Given the description of an element on the screen output the (x, y) to click on. 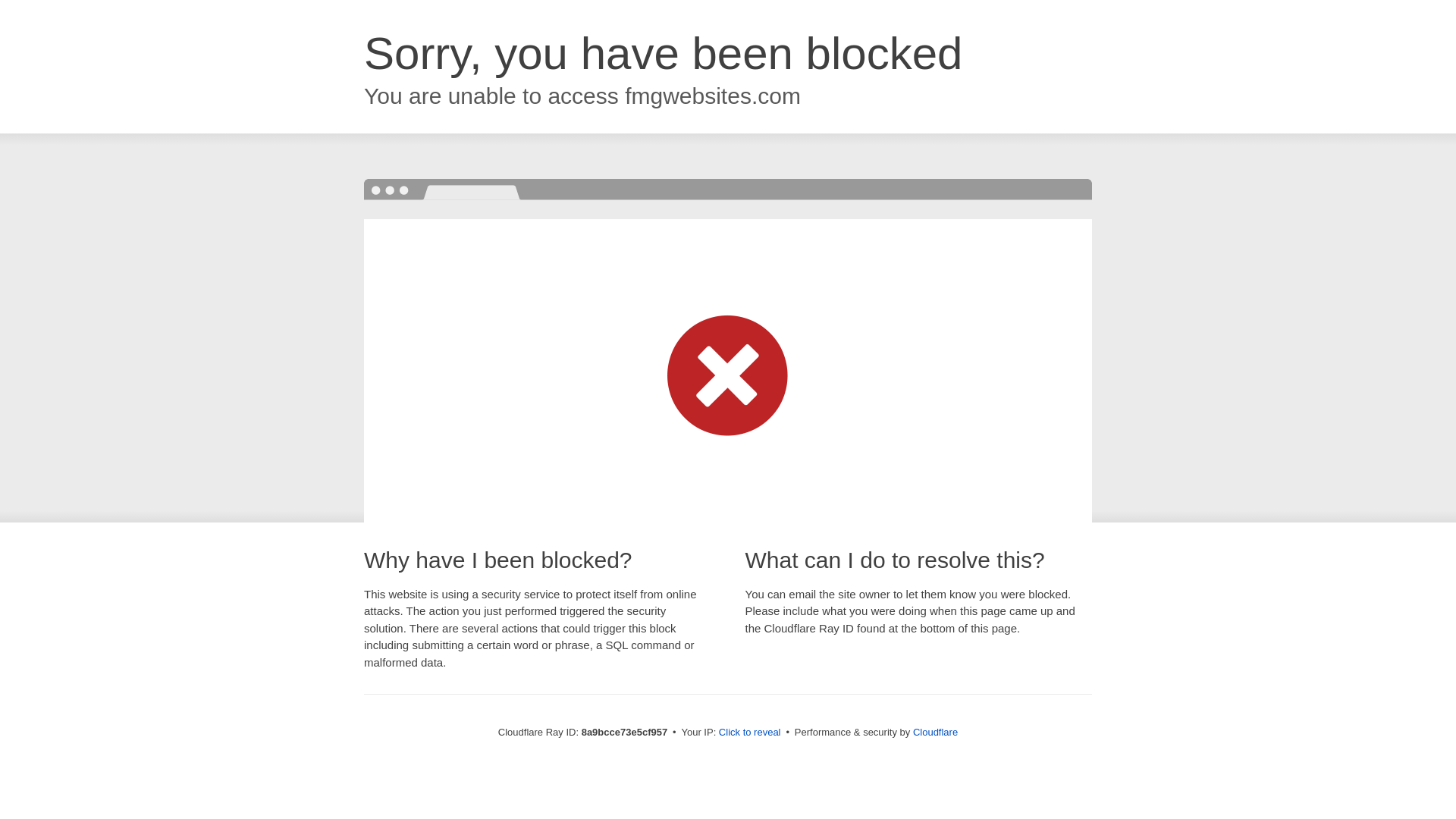
Cloudflare (935, 731)
Click to reveal (749, 732)
